Given the description of an element on the screen output the (x, y) to click on. 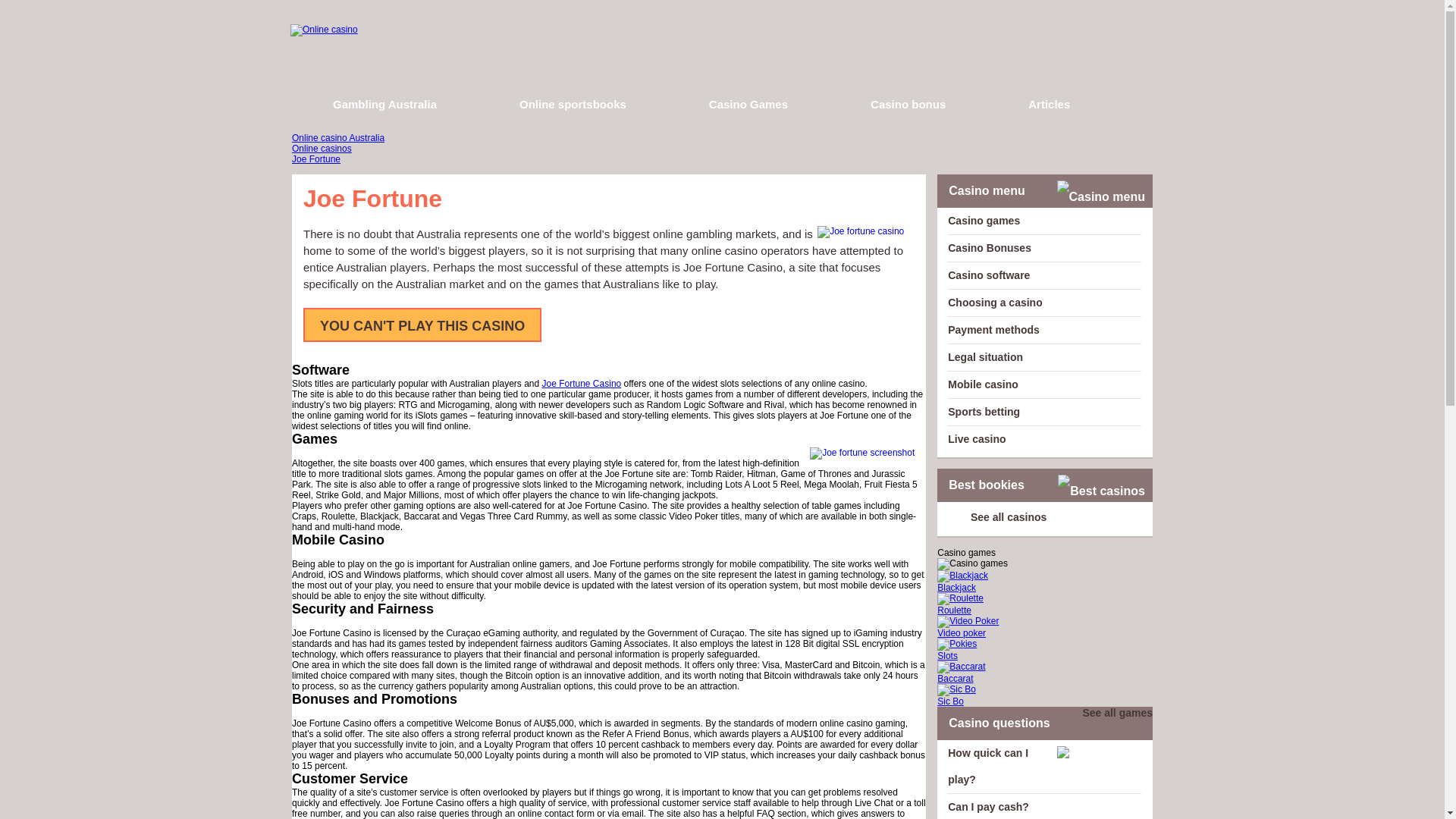
See all games (1112, 712)
Sports betting (983, 411)
Choosing a casino (994, 302)
Casino software (988, 275)
Payment methods (993, 329)
Live casino (976, 439)
Slots (1045, 649)
Joe Fortune (316, 158)
Online casino Australia (338, 137)
How quick can I play? (987, 765)
